Given the description of an element on the screen output the (x, y) to click on. 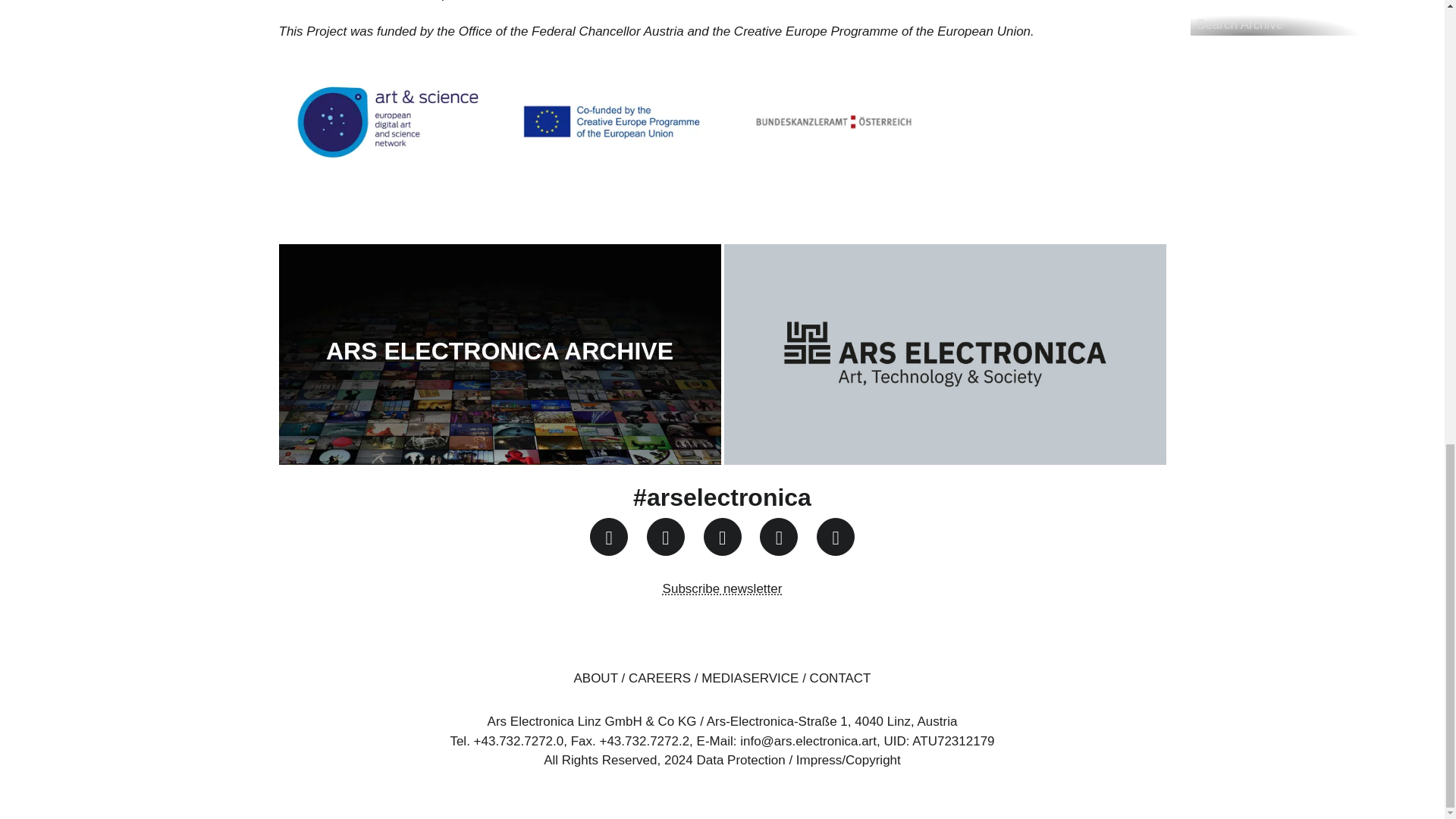
Facebook (665, 536)
Instagram (608, 536)
YouTube (722, 536)
